Given the description of an element on the screen output the (x, y) to click on. 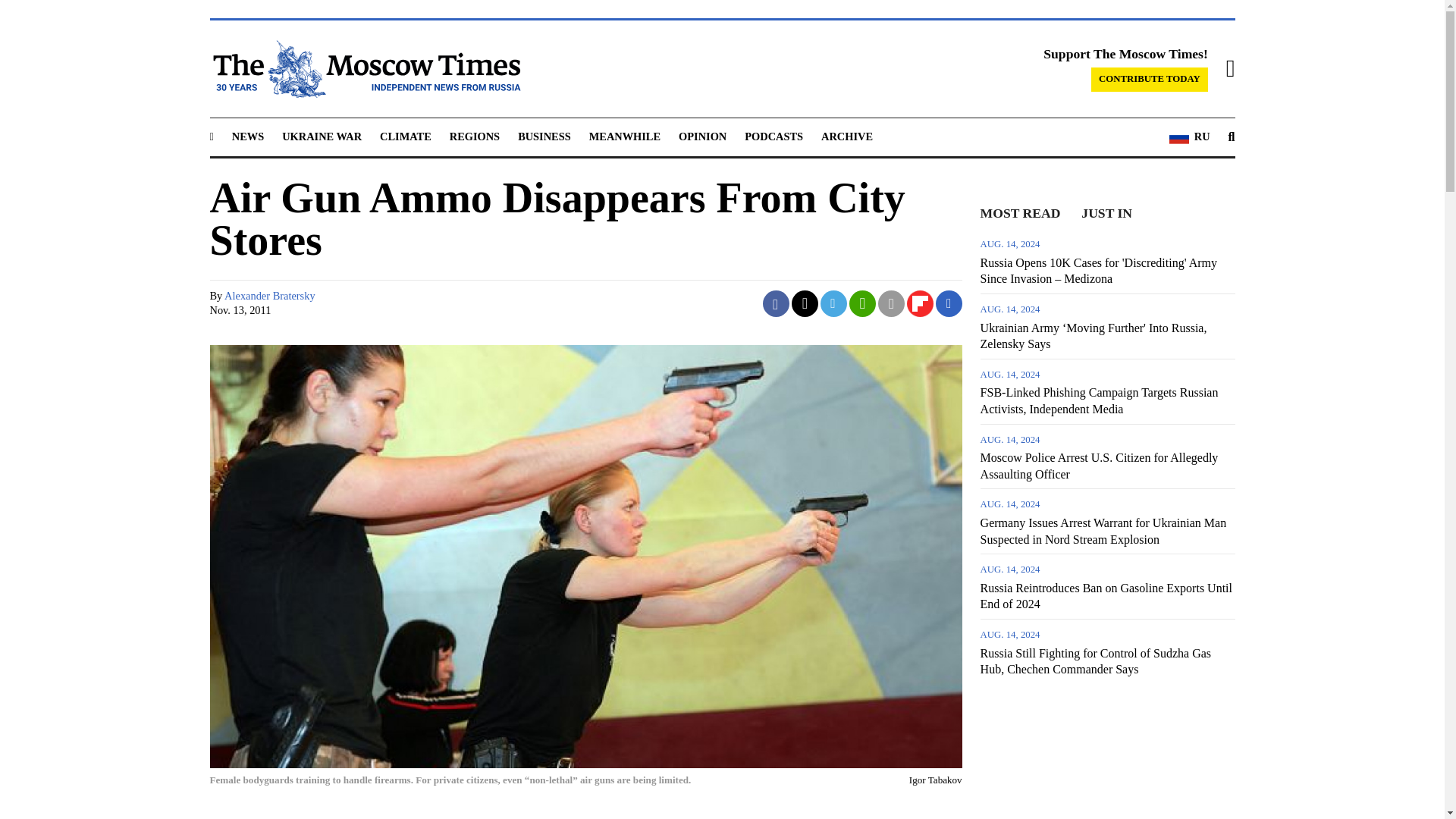
CONTRIBUTE TODAY (1149, 79)
CLIMATE (405, 136)
ARCHIVE (846, 136)
Alexander Bratersky (269, 295)
MEANWHILE (625, 136)
REGIONS (474, 136)
Share on Telegram (834, 303)
Share on Flipboard (920, 303)
RU (1189, 137)
BUSINESS (544, 136)
